Given the description of an element on the screen output the (x, y) to click on. 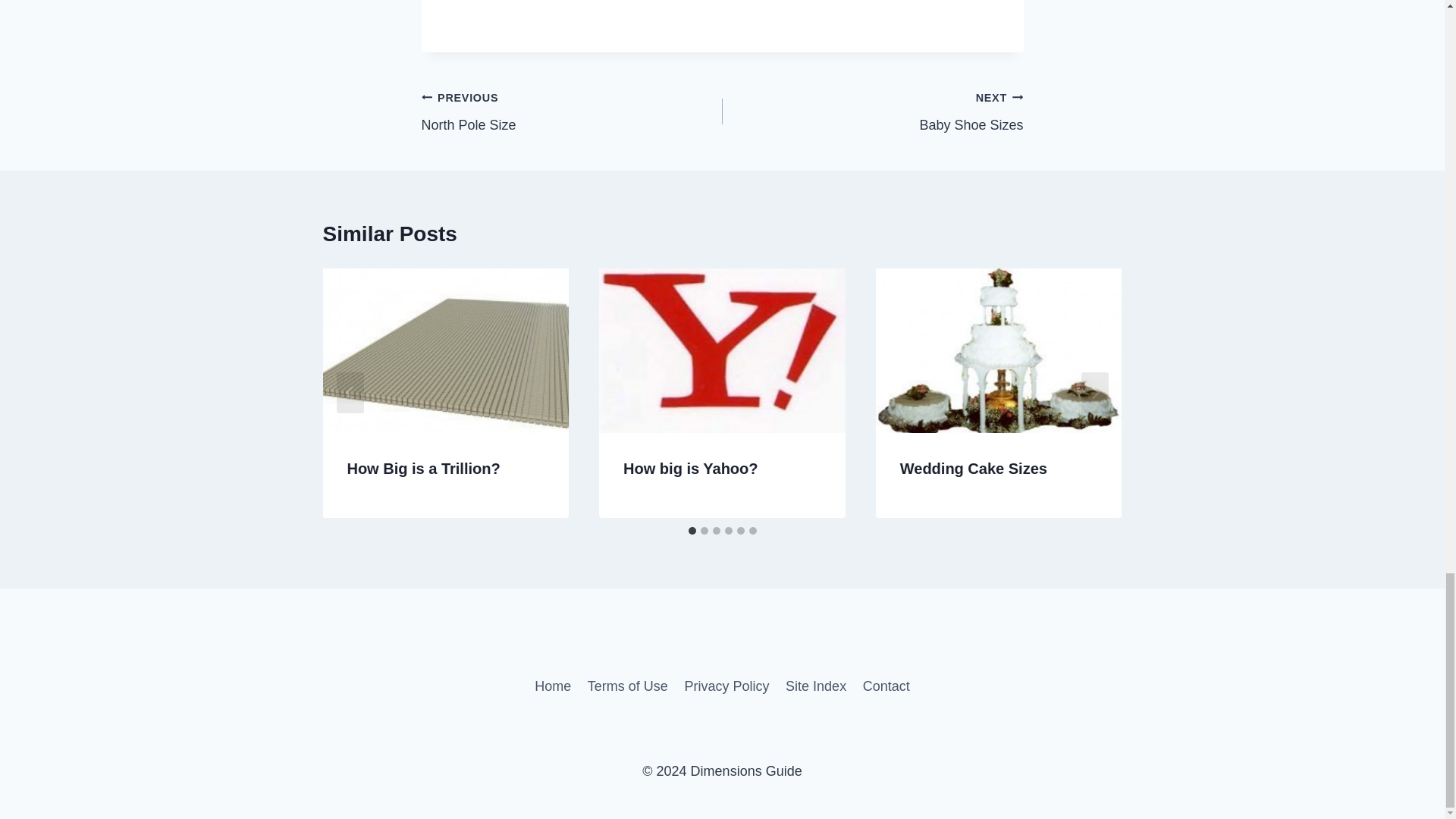
Advertisement (572, 111)
